Given the description of an element on the screen output the (x, y) to click on. 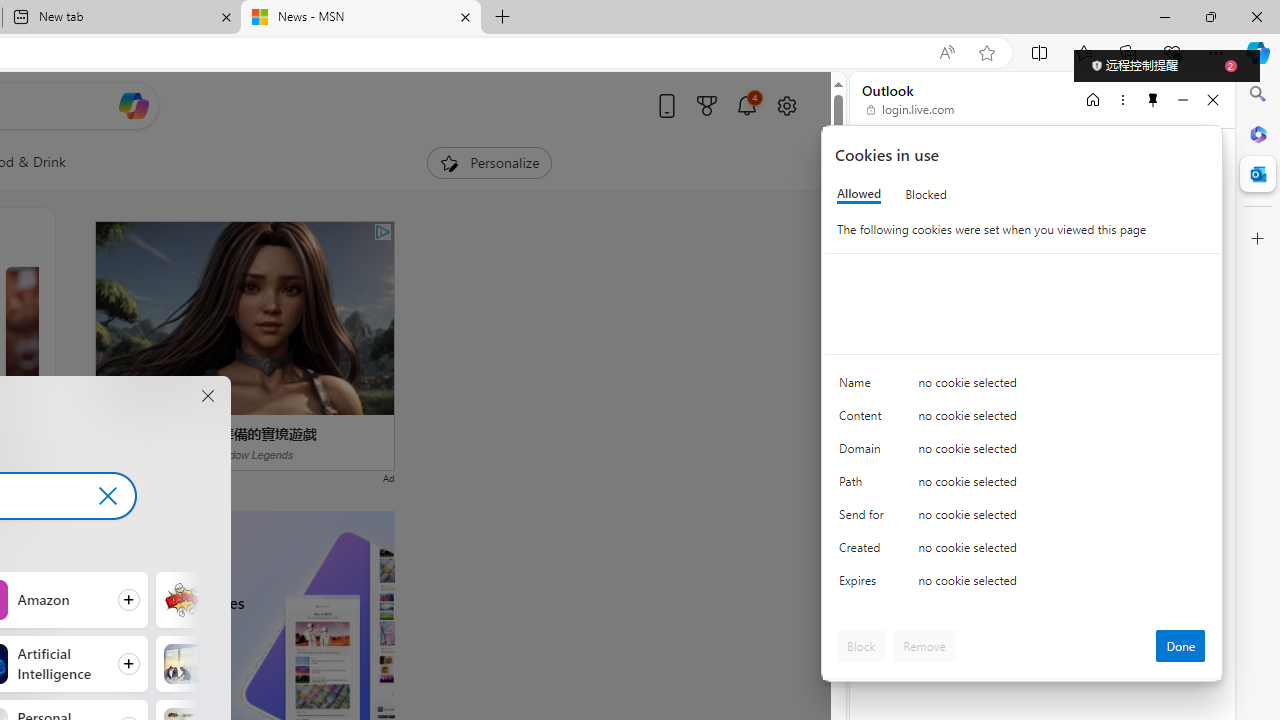
Personalize (488, 162)
Close (1213, 99)
Block (861, 645)
Ad (388, 476)
Collections (1128, 52)
News - MSN (360, 17)
no cookie selected (1062, 585)
login.live.com (911, 110)
Class: c0153 c0157 c0154 (1023, 386)
Allowed (859, 193)
Split screen (1039, 52)
